Given the description of an element on the screen output the (x, y) to click on. 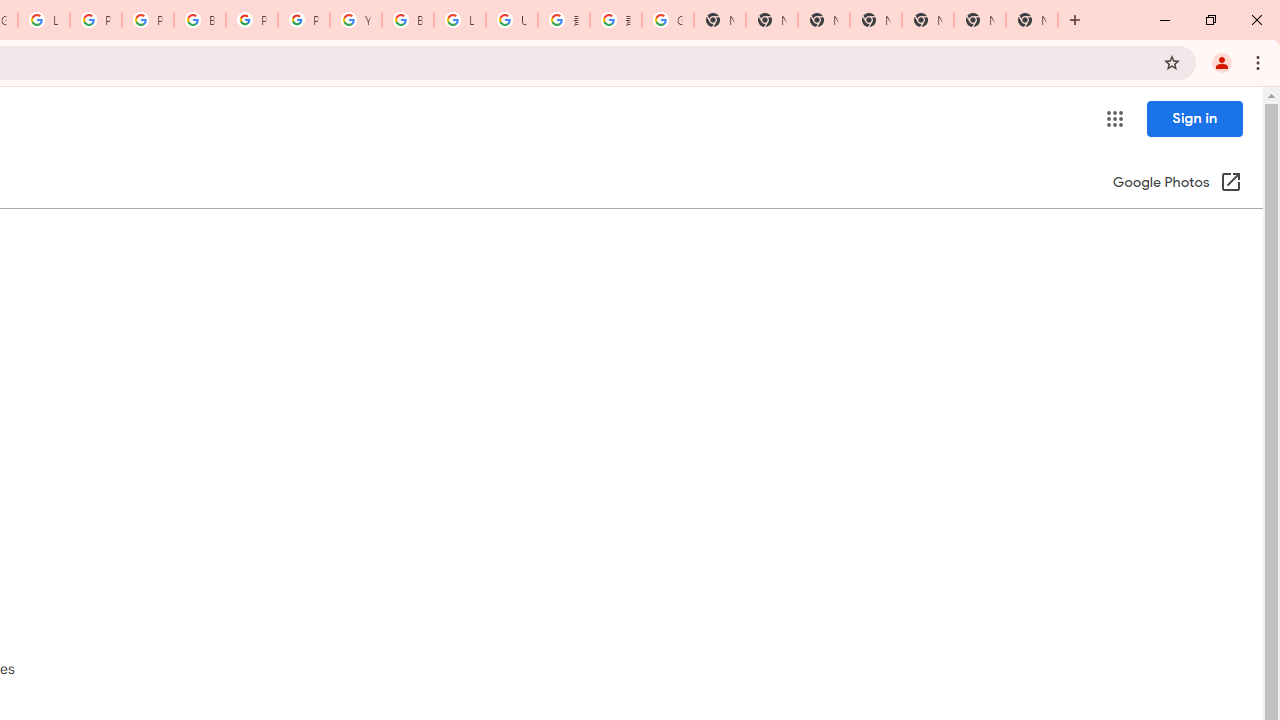
New Tab (875, 20)
New Tab (1032, 20)
Privacy Help Center - Policies Help (95, 20)
